Given the description of an element on the screen output the (x, y) to click on. 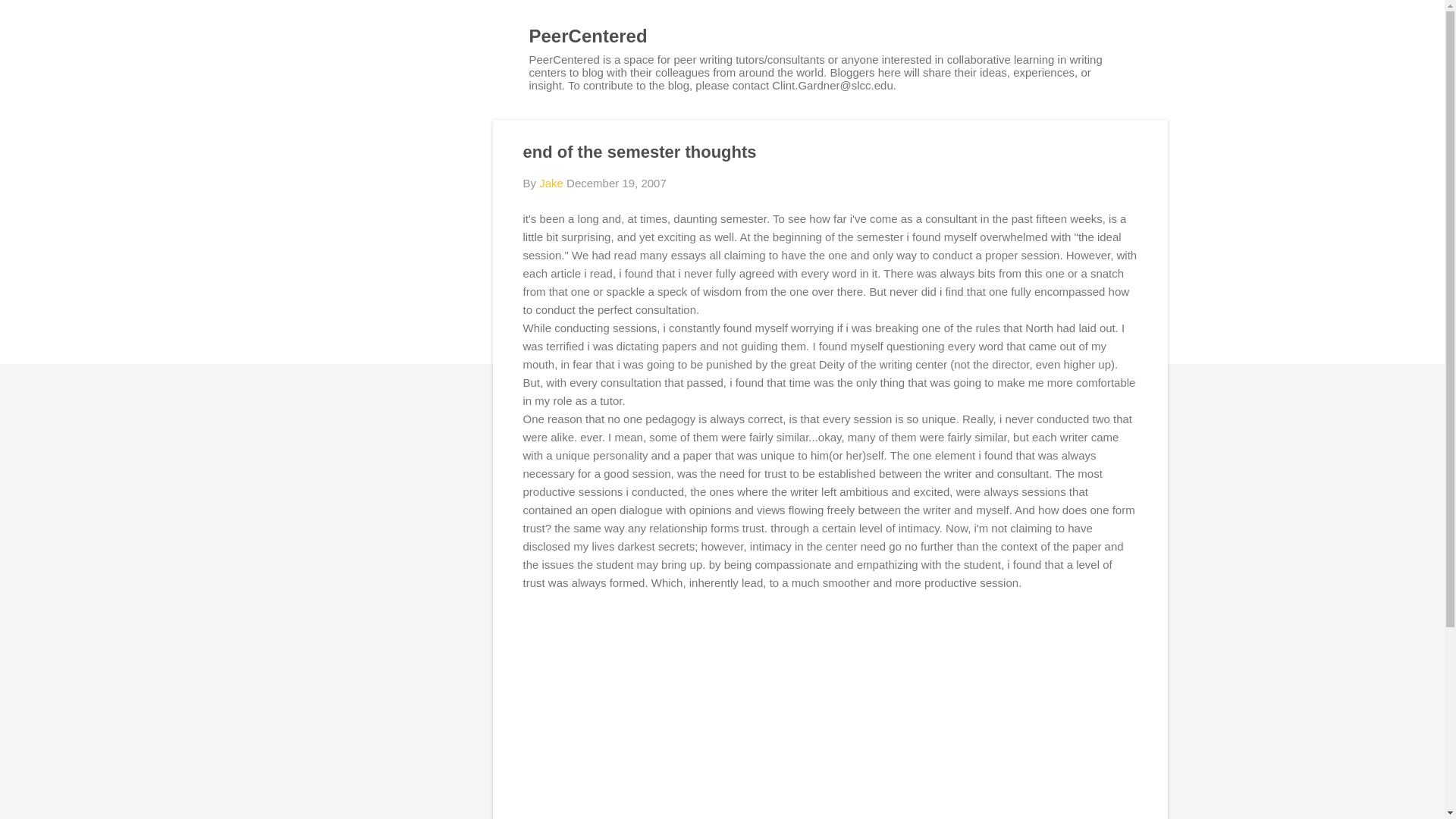
Jake (550, 182)
December 19, 2007 (616, 182)
author profile (550, 182)
PeerCentered (588, 35)
Email Post (531, 634)
permanent link (616, 182)
Search (29, 18)
